Given the description of an element on the screen output the (x, y) to click on. 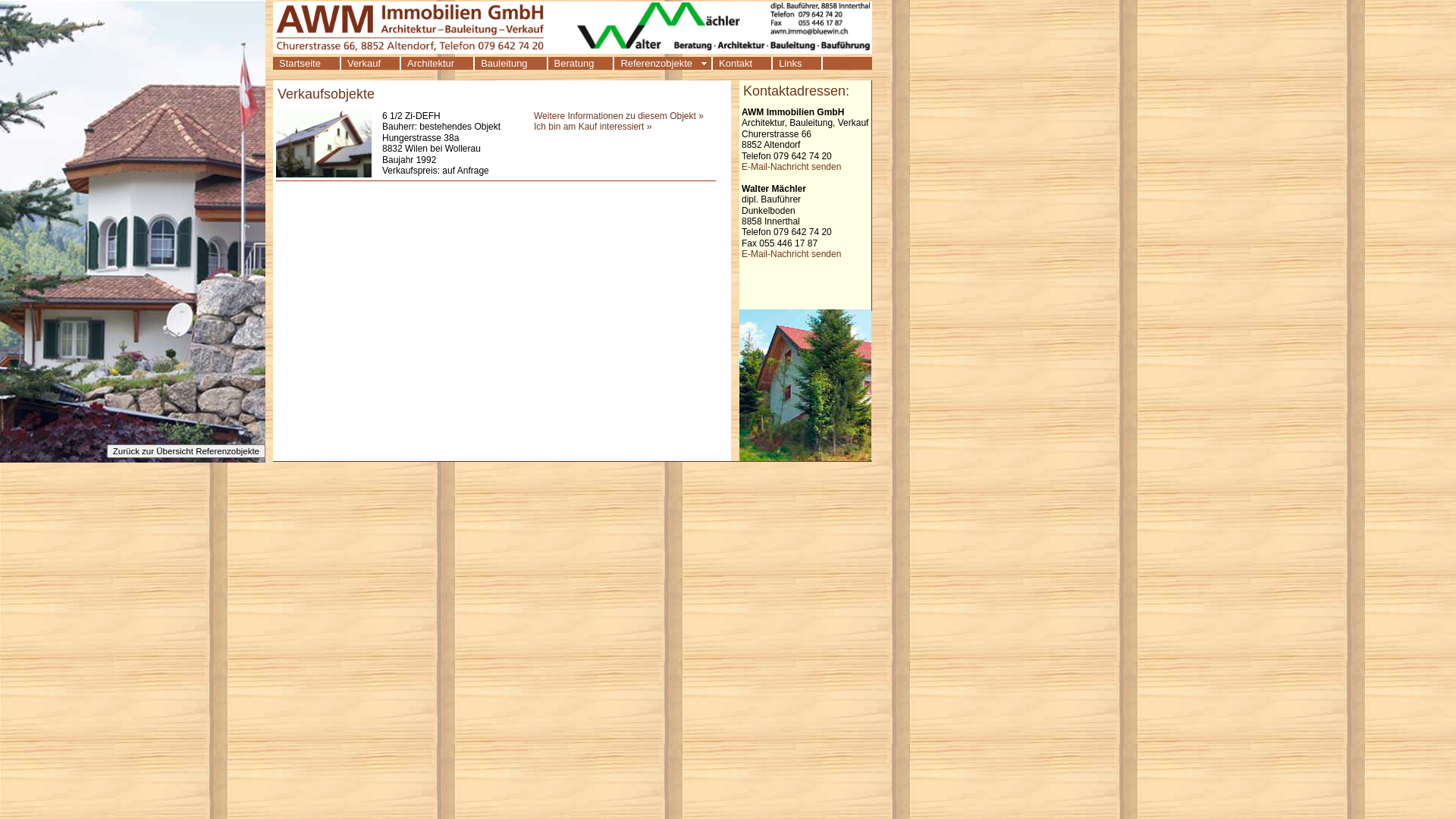
E-Mail-Nachricht senden Element type: text (790, 166)
Verkauf Element type: text (371, 62)
Kontakt Element type: text (742, 62)
Links Element type: text (797, 62)
Architektur Element type: text (437, 62)
Referenzobjekte Element type: text (663, 62)
Bauleitung Element type: text (510, 62)
Beratung Element type: text (581, 62)
E-Mail-Nachricht senden Element type: text (790, 253)
Startseite Element type: text (307, 62)
